Given the description of an element on the screen output the (x, y) to click on. 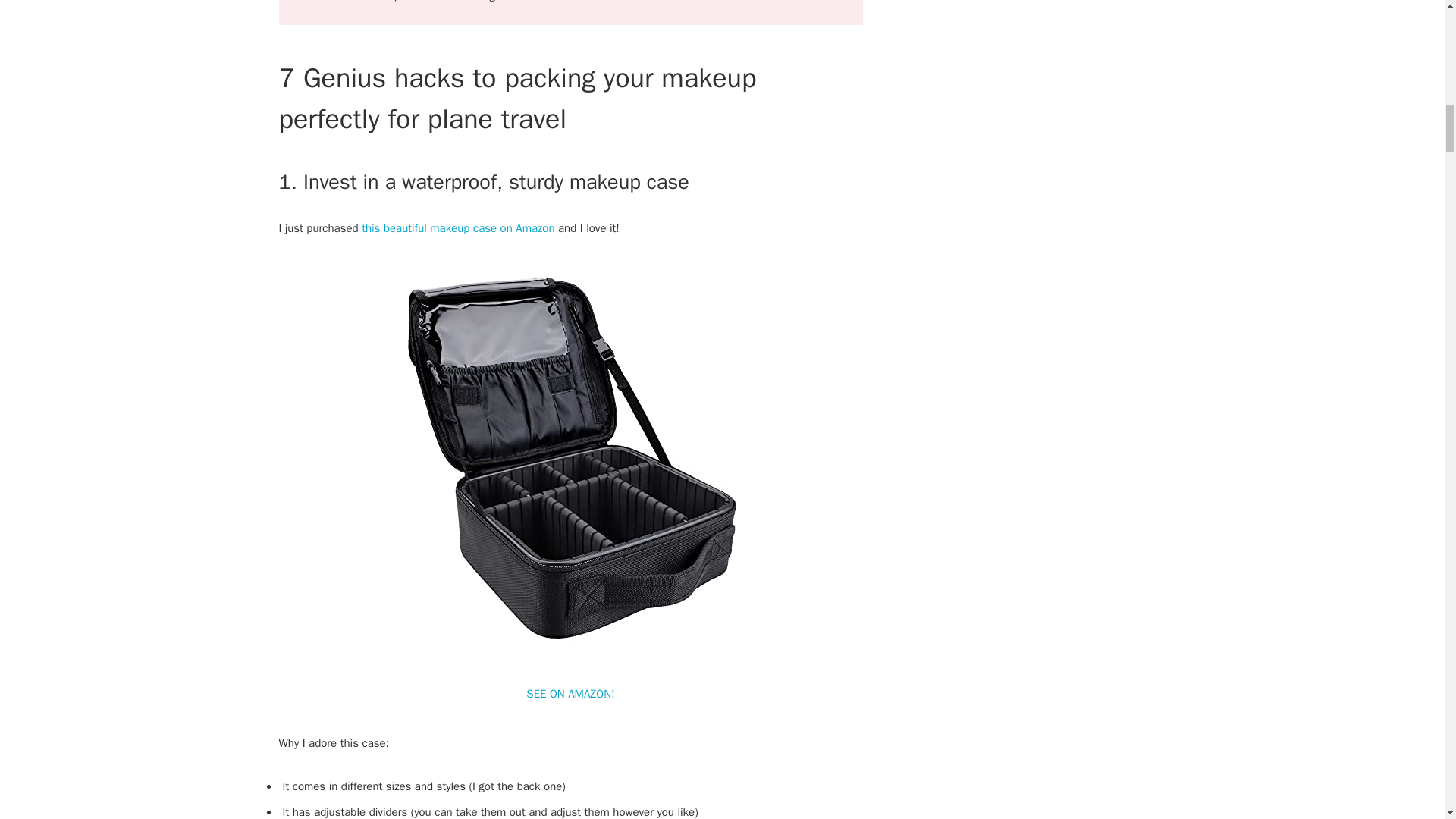
SEE ON AMAZON! (569, 694)
Click here (526, 1)
this beautiful makeup case on Amazon (457, 228)
